Given the description of an element on the screen output the (x, y) to click on. 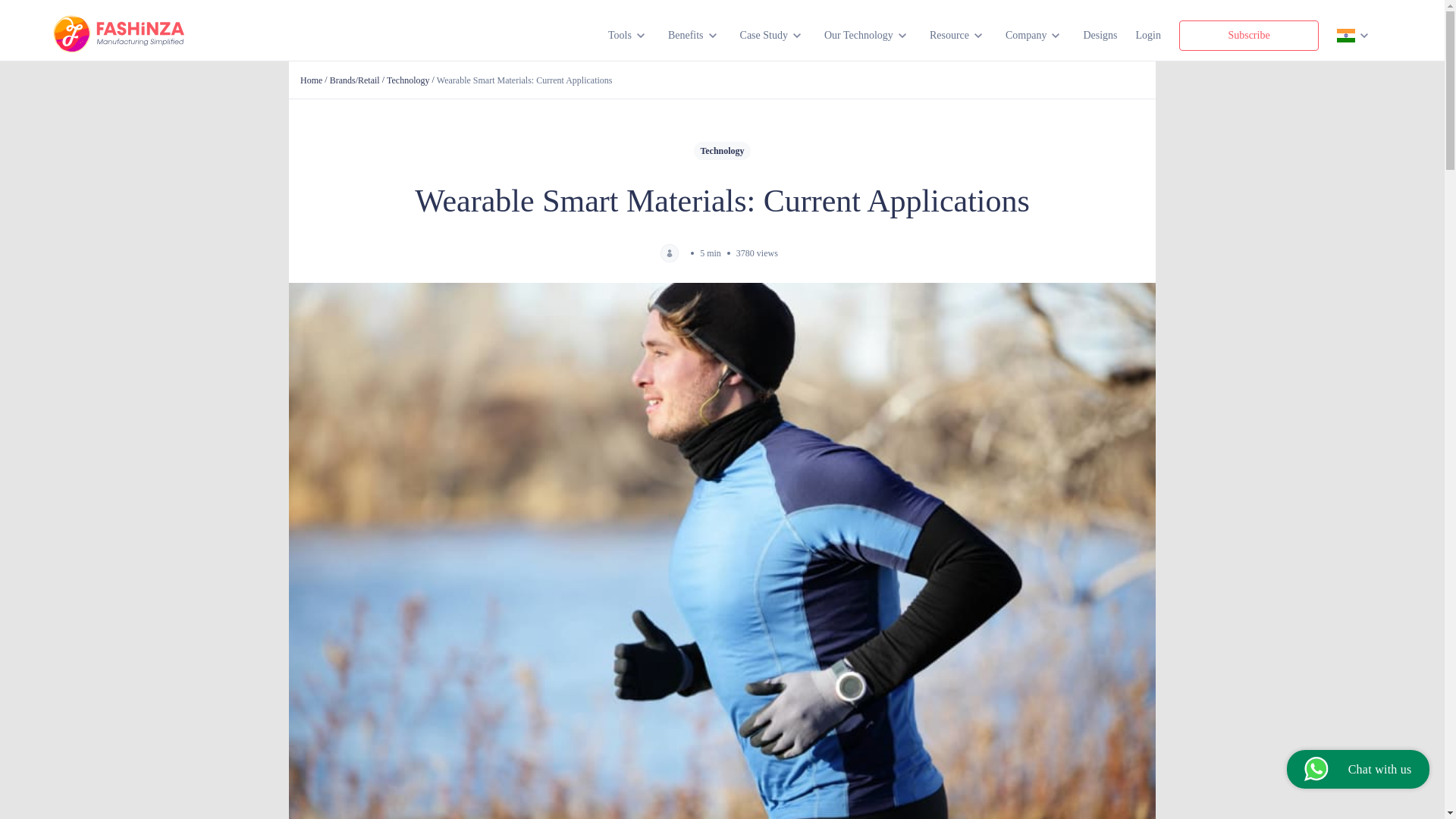
Home (310, 80)
Technology (408, 80)
Subscribe (1249, 35)
Designs (1099, 35)
Login (1147, 35)
